Given the description of an element on the screen output the (x, y) to click on. 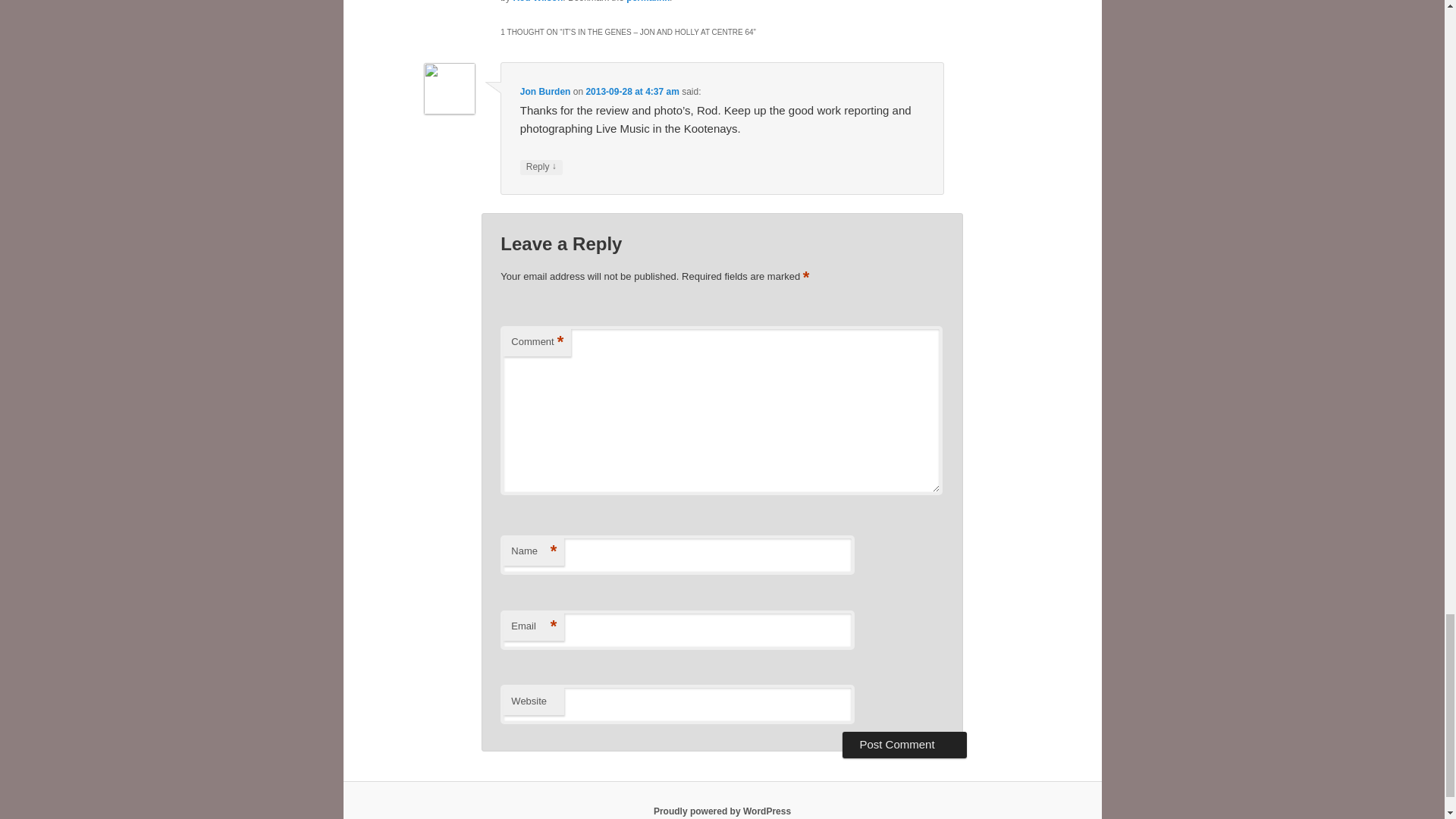
Semantic Personal Publishing Platform (721, 810)
Post Comment (904, 744)
